Given the description of an element on the screen output the (x, y) to click on. 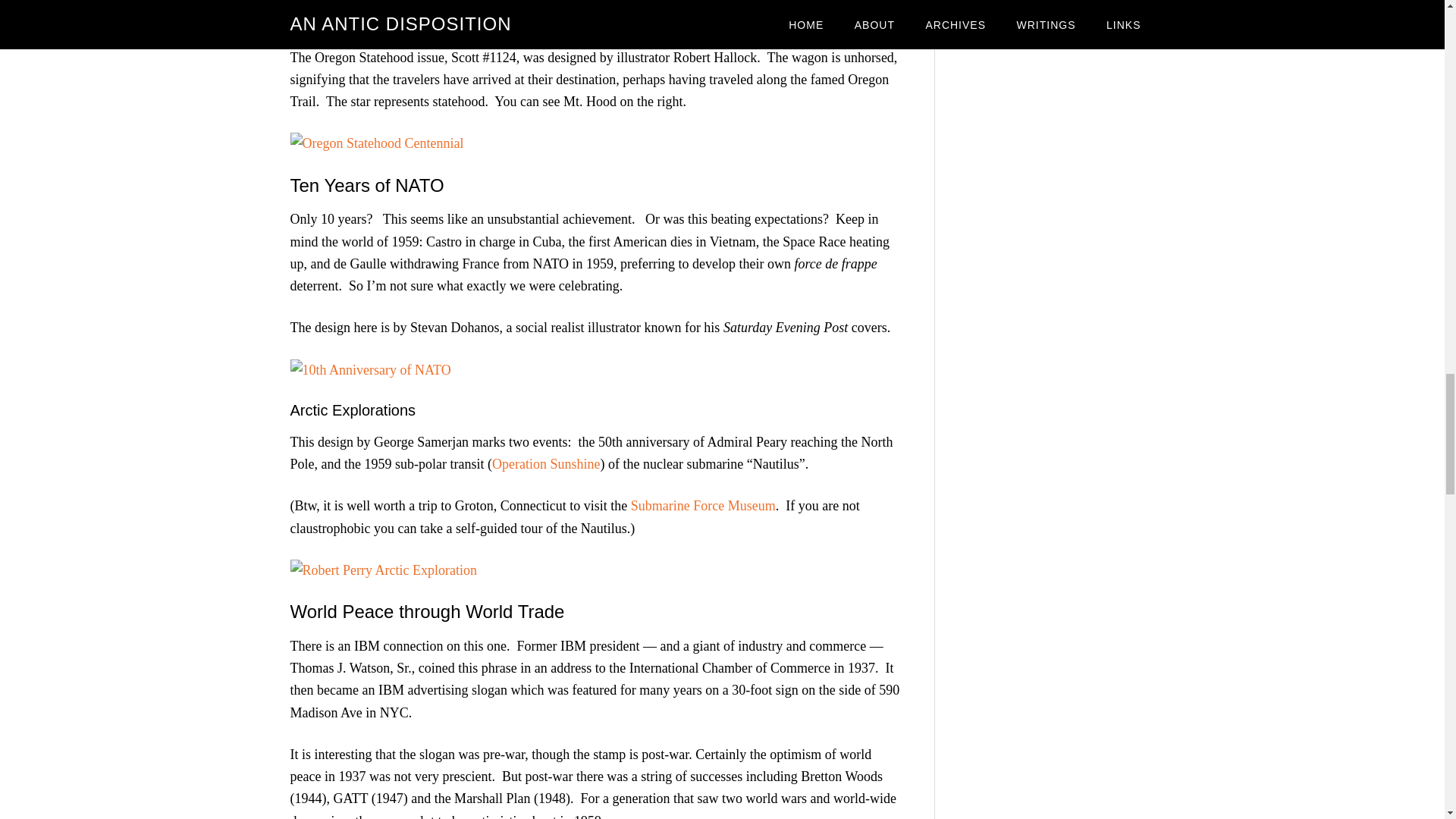
1959 10th Anniversary of NATO (369, 369)
Oregon Statehood Centennial (376, 142)
Operation Sunshine (545, 463)
Robert Perry Arctic Exploration (382, 570)
Submarine Force Museum (703, 505)
